Given the description of an element on the screen output the (x, y) to click on. 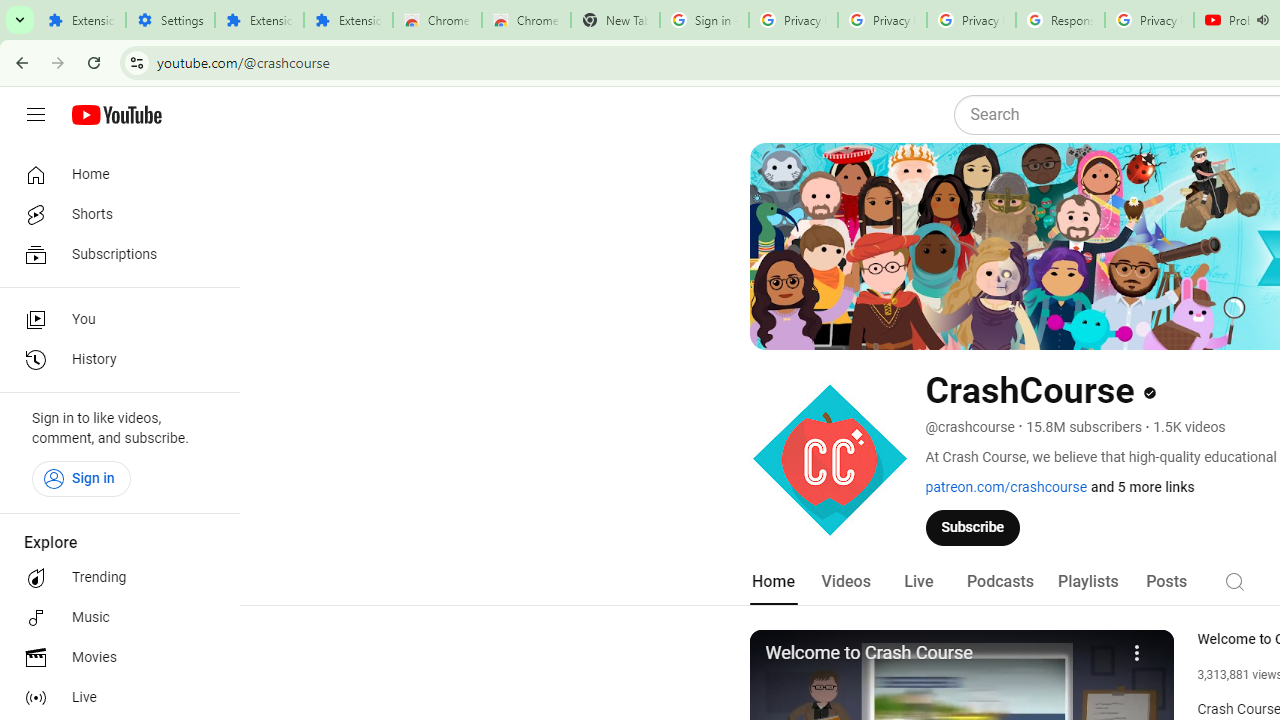
Welcome to Crash Course (939, 654)
